Given the description of an element on the screen output the (x, y) to click on. 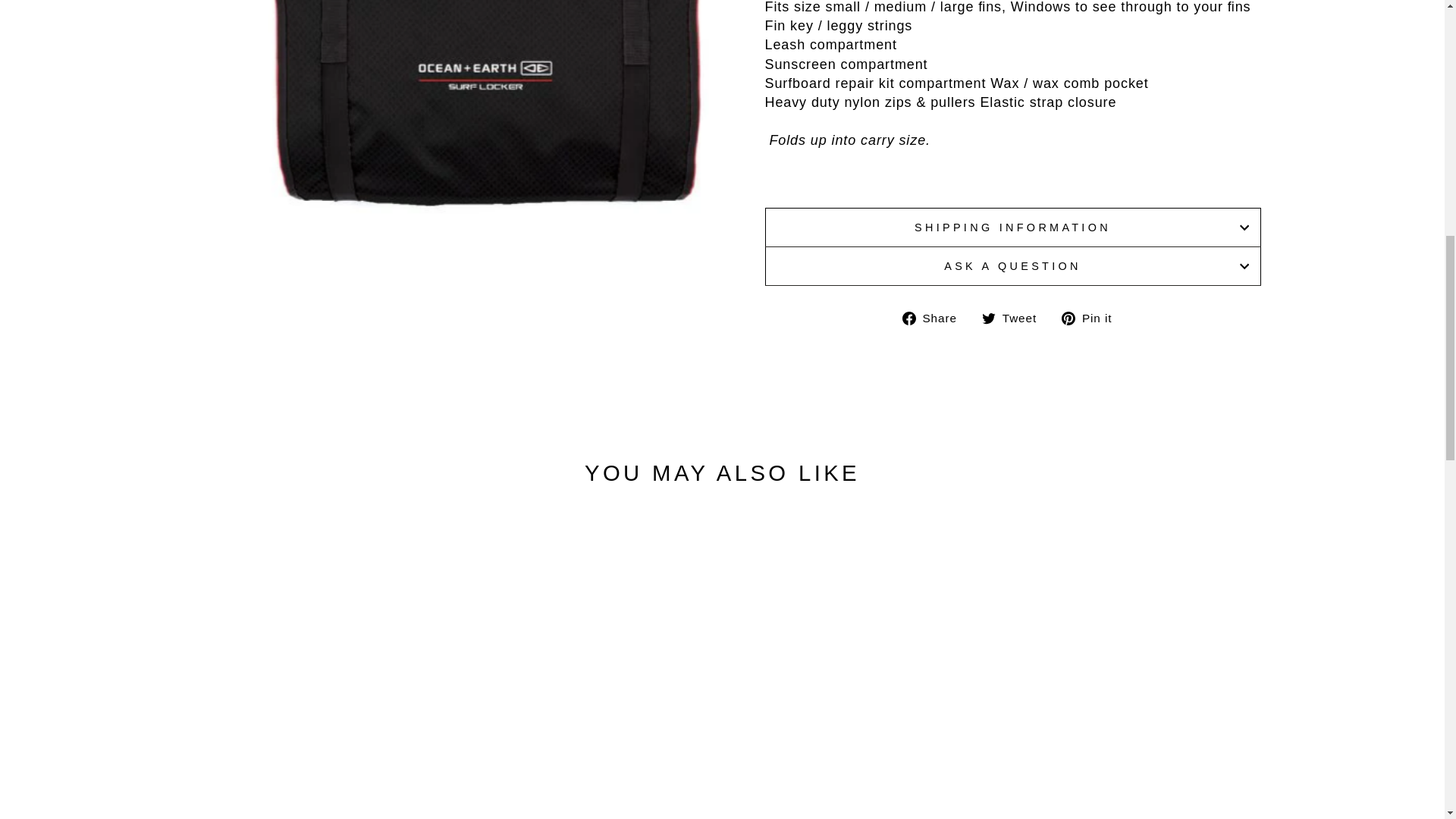
Share on Facebook (935, 317)
Pin on Pinterest (1091, 317)
twitter (988, 318)
Tweet on Twitter (1014, 317)
